Given the description of an element on the screen output the (x, y) to click on. 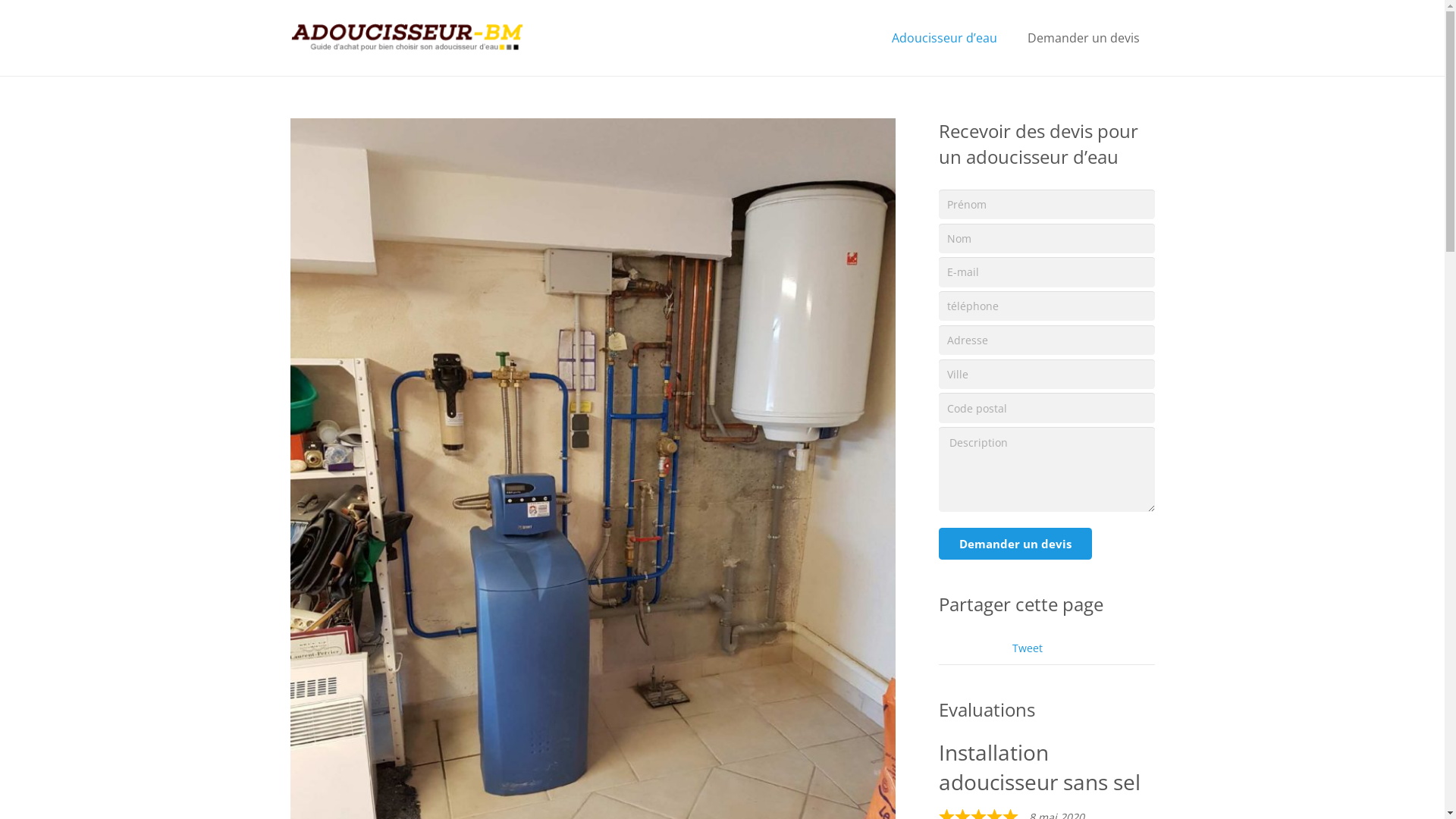
Demander un devis Element type: text (1083, 37)
Tweet Element type: text (1027, 647)
Demander un devis Element type: text (1015, 543)
